Given the description of an element on the screen output the (x, y) to click on. 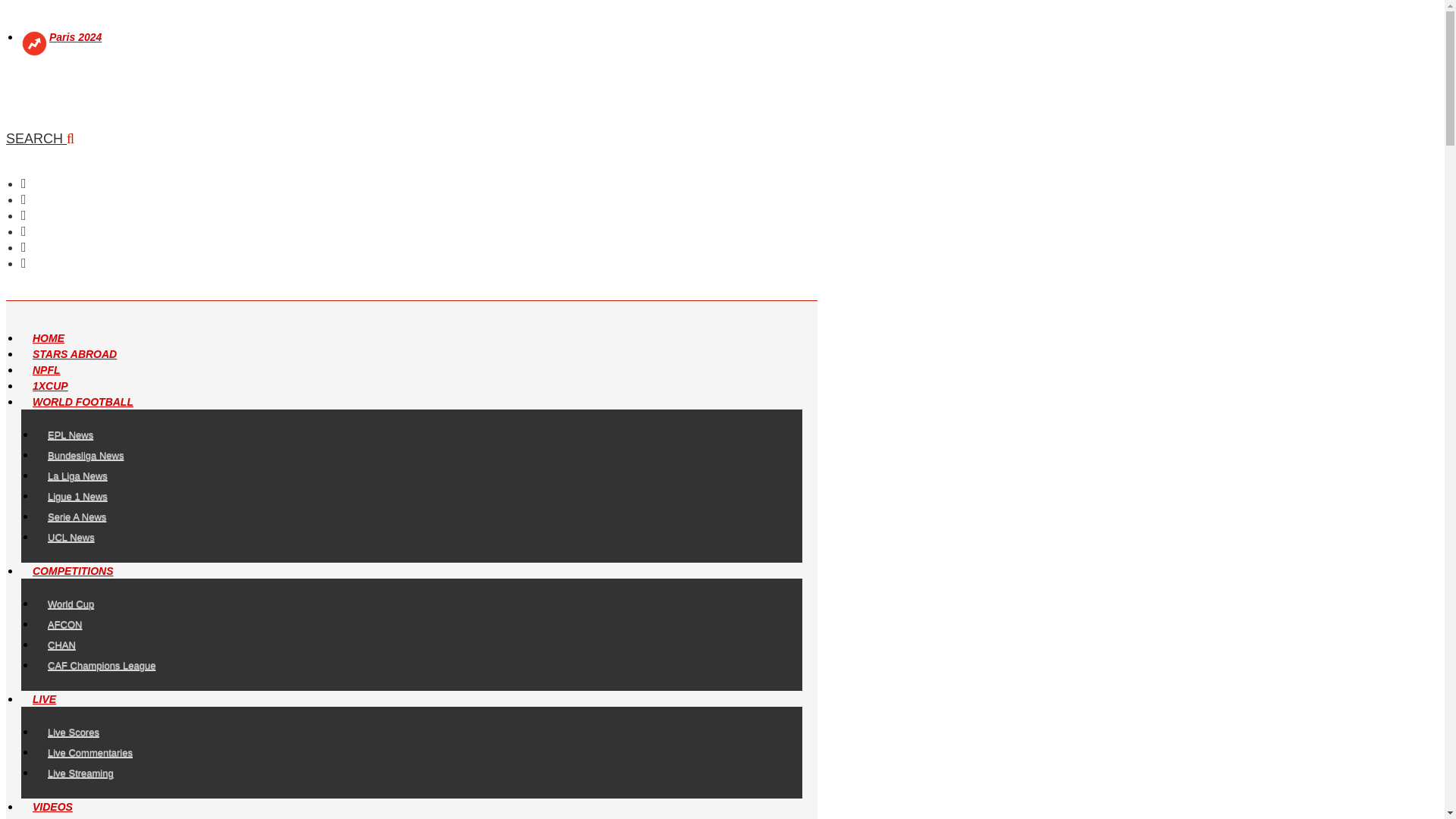
AFCON (65, 624)
COMPETITIONS (73, 571)
Complete Sports (57, 101)
STARS ABROAD (74, 354)
UCL News (71, 536)
SEARCH (39, 138)
World Cup (70, 603)
LIVE (43, 698)
Paris 2024 (76, 37)
HOME (48, 337)
